Given the description of an element on the screen output the (x, y) to click on. 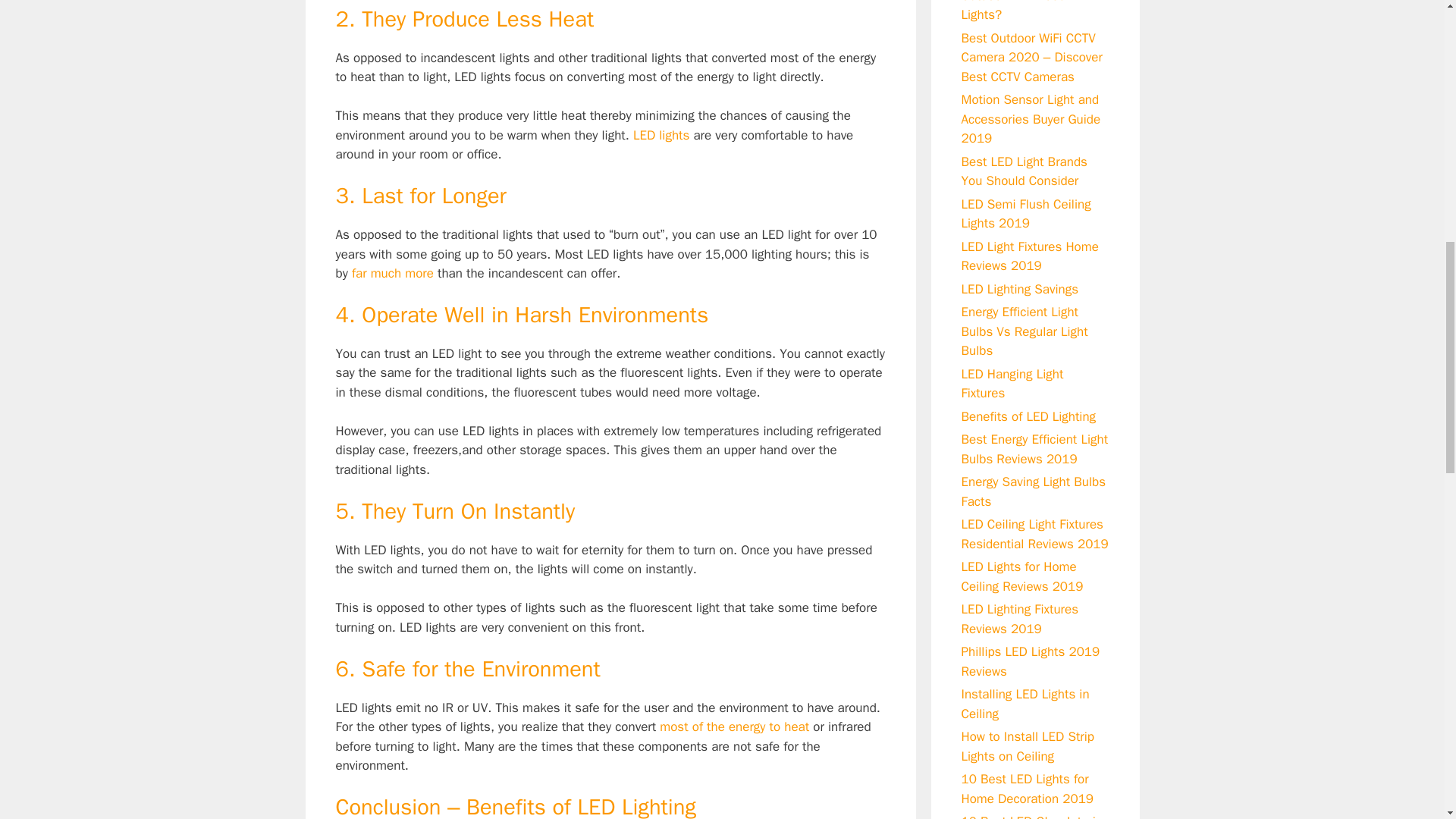
LED Light Fixtures Home Reviews 2019 (1029, 255)
Energy Efficient Light Bulbs Vs Regular Light Bulbs (1023, 330)
Benefits of LED Lighting (1028, 415)
Energy Saving Light Bulbs Facts (1033, 491)
LED Lights for Home Ceiling Reviews 2019 (1021, 576)
most of the energy to heat (734, 726)
LED Hanging Light Fixtures (1012, 383)
What are the Best Outdoor LED Flood Lights? (1012, 11)
LED Ceiling Light Fixtures Residential Reviews 2019 (1034, 534)
Motion Sensor Light and Accessories Buyer Guide 2019 (1030, 118)
